Given the description of an element on the screen output the (x, y) to click on. 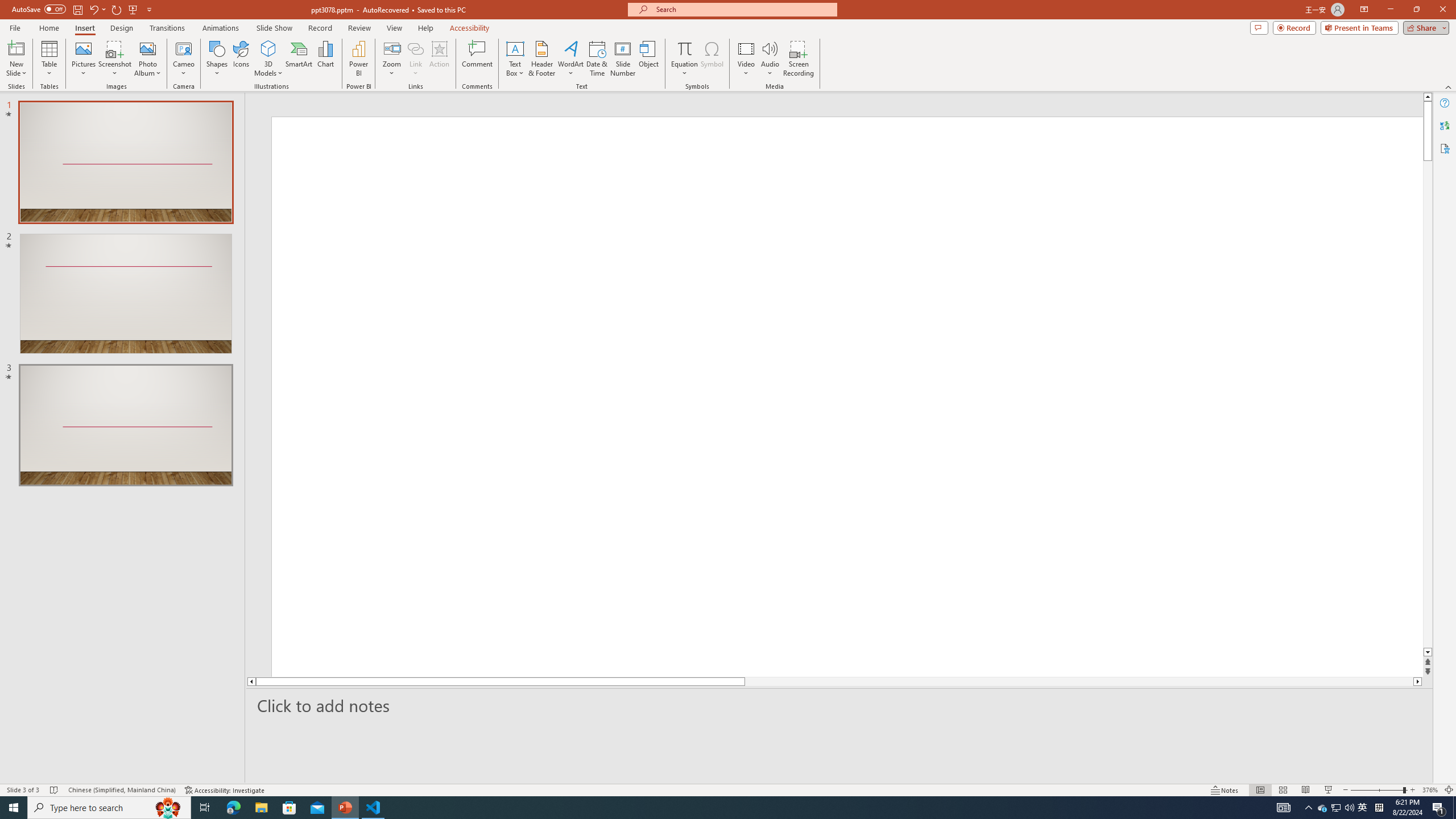
Table (49, 58)
Audio (769, 58)
Screen Recording... (798, 58)
Screenshot (114, 58)
Date & Time... (596, 58)
Slide Number (622, 58)
Object... (649, 58)
